Given the description of an element on the screen output the (x, y) to click on. 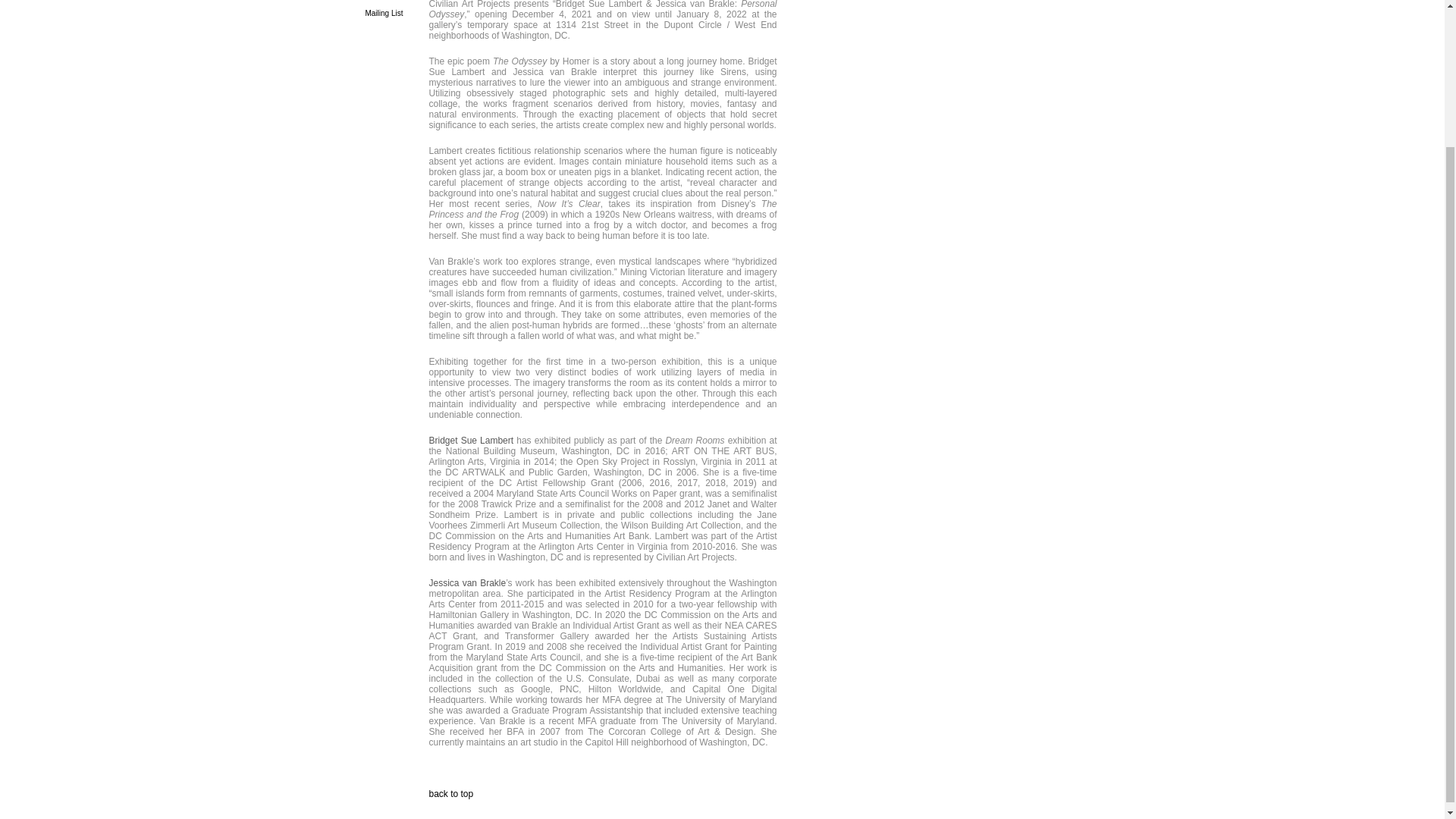
About (392, 0)
back to top (451, 793)
Mailing List (384, 13)
